Given the description of an element on the screen output the (x, y) to click on. 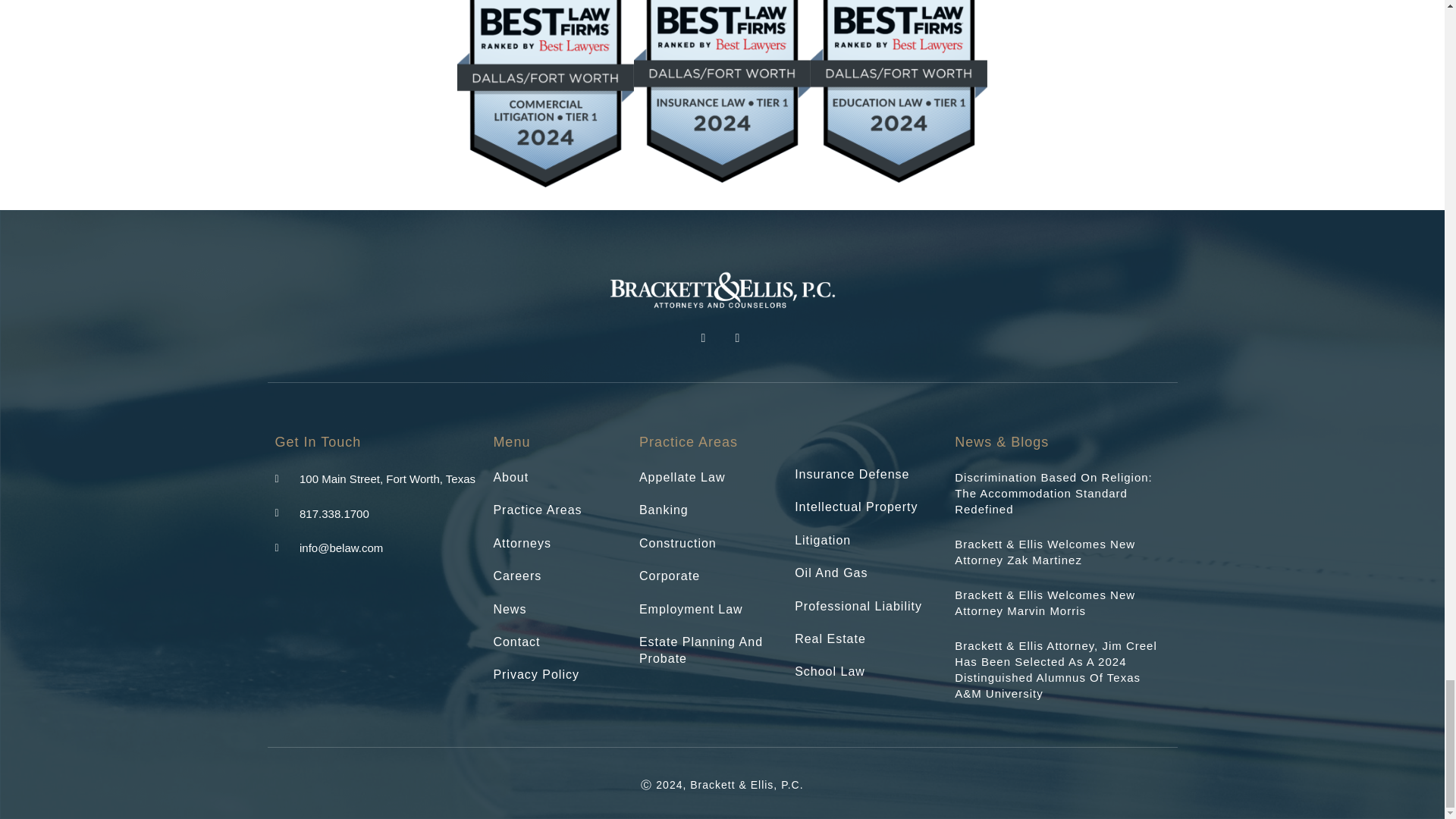
About (558, 477)
Practice Areas (558, 510)
News (558, 609)
Attorneys (558, 543)
817.338.1700 (321, 514)
Careers (558, 576)
